Given the description of an element on the screen output the (x, y) to click on. 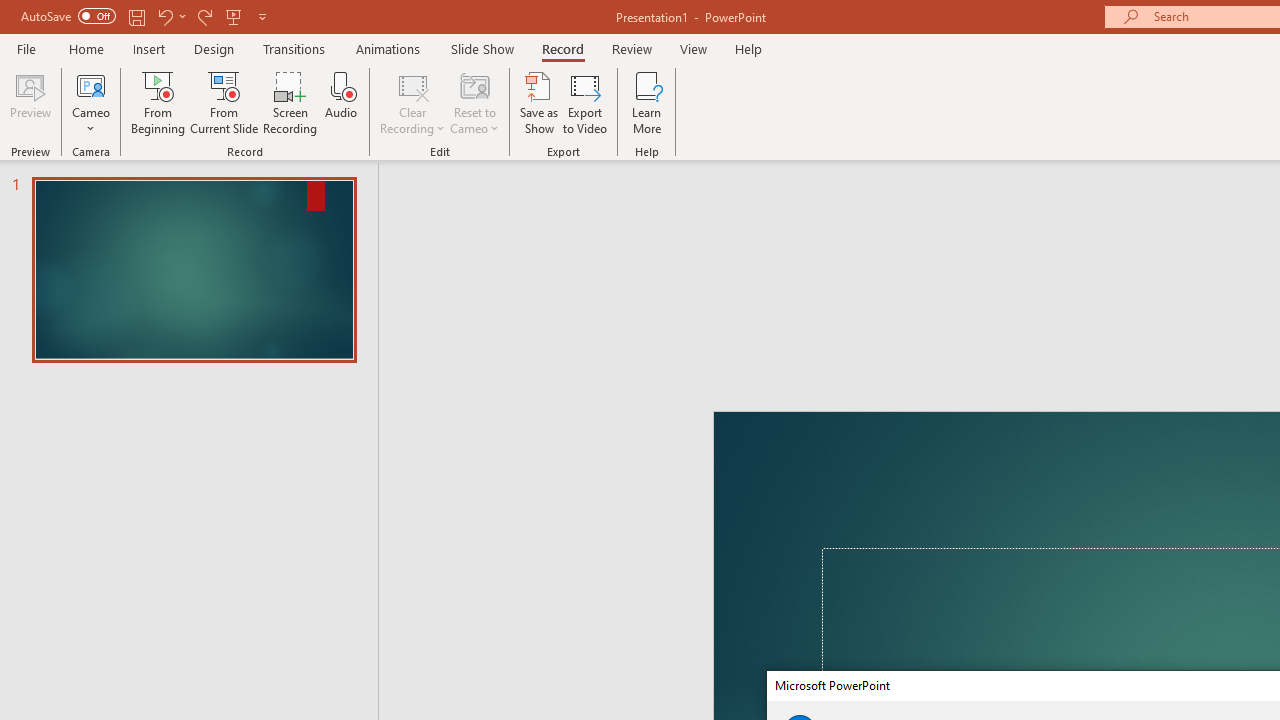
Reset to Cameo (474, 102)
Clear Recording (412, 102)
Screen Recording (290, 102)
